Given the description of an element on the screen output the (x, y) to click on. 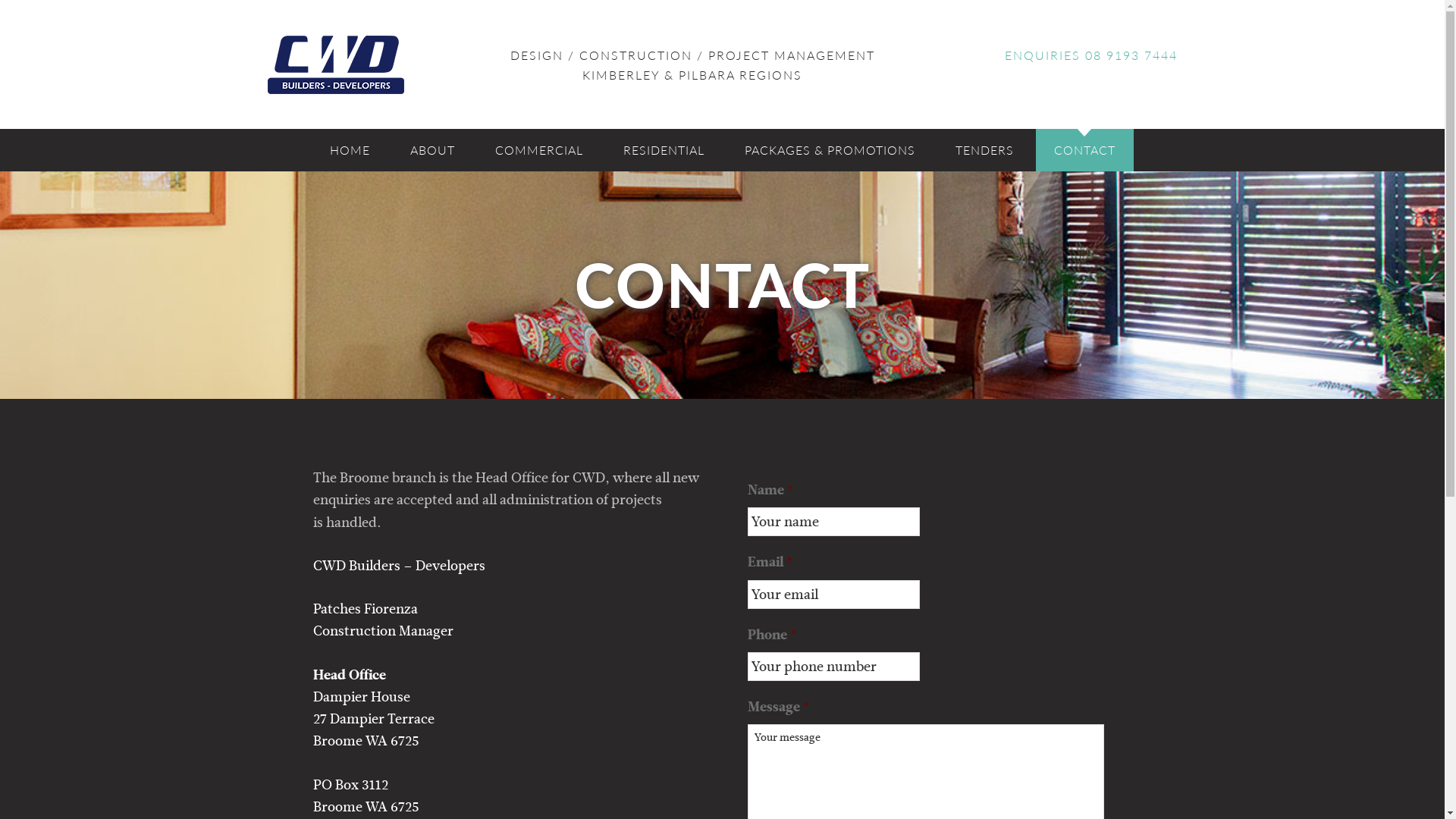
CWD Builders - Developers Element type: text (353, 64)
RESIDENTIAL Element type: text (663, 149)
TENDERS Element type: text (984, 149)
CONTACT Element type: text (1084, 149)
COMMERCIAL Element type: text (538, 149)
ABOUT Element type: text (431, 149)
HOME Element type: text (348, 149)
PACKAGES & PROMOTIONS Element type: text (829, 149)
